Given the description of an element on the screen output the (x, y) to click on. 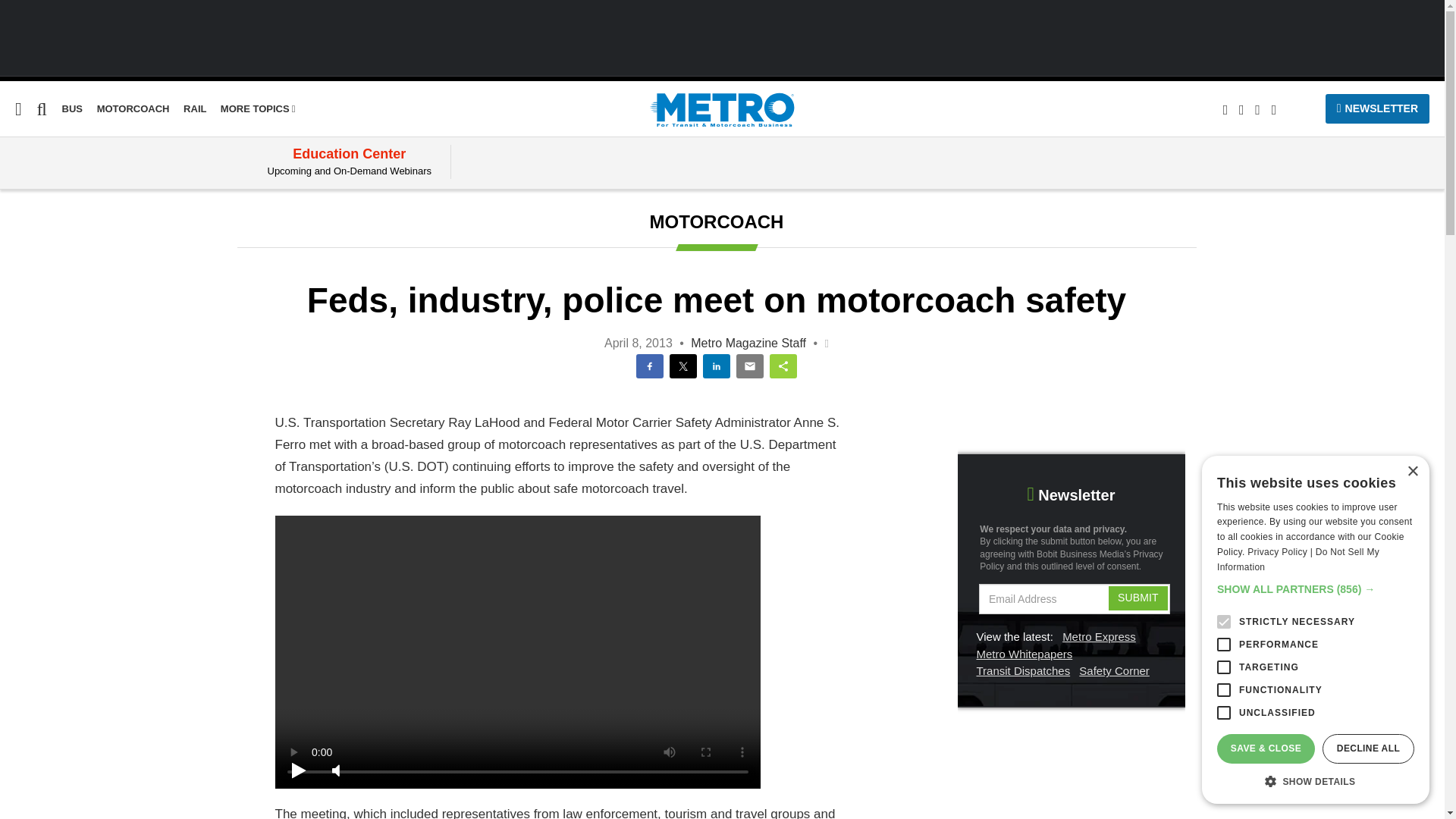
Security and Safety (58, 323)
Bus (72, 108)
Management (37, 293)
Paratransit (32, 264)
Rail (10, 236)
Paratransit (32, 264)
Motorcoach (133, 108)
Bus (10, 206)
Rail (194, 108)
Rail (10, 236)
Bus (10, 206)
Management (37, 293)
MOTORCOACH (133, 108)
MORE TOPICS (258, 108)
Security and Safety (58, 323)
